Given the description of an element on the screen output the (x, y) to click on. 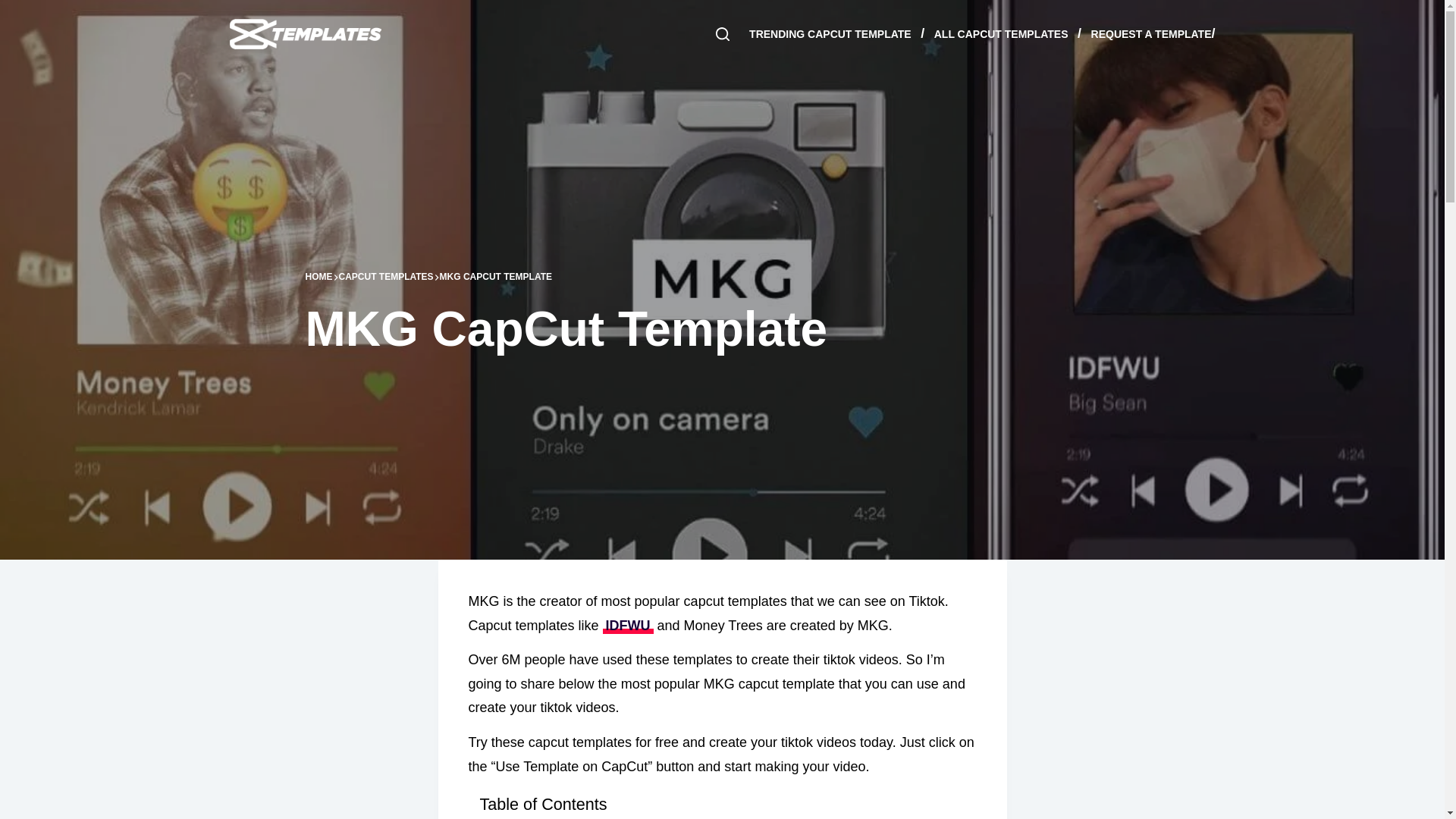
TRENDING CAPCUT TEMPLATE (834, 33)
CAPCUT TEMPLATES (384, 277)
HOME (317, 277)
Skip to content (15, 7)
MKG CapCut Template (721, 329)
REQUEST A TEMPLATE (1146, 33)
IDFWU (627, 625)
ALL CAPCUT TEMPLATES (1000, 33)
